Given the description of an element on the screen output the (x, y) to click on. 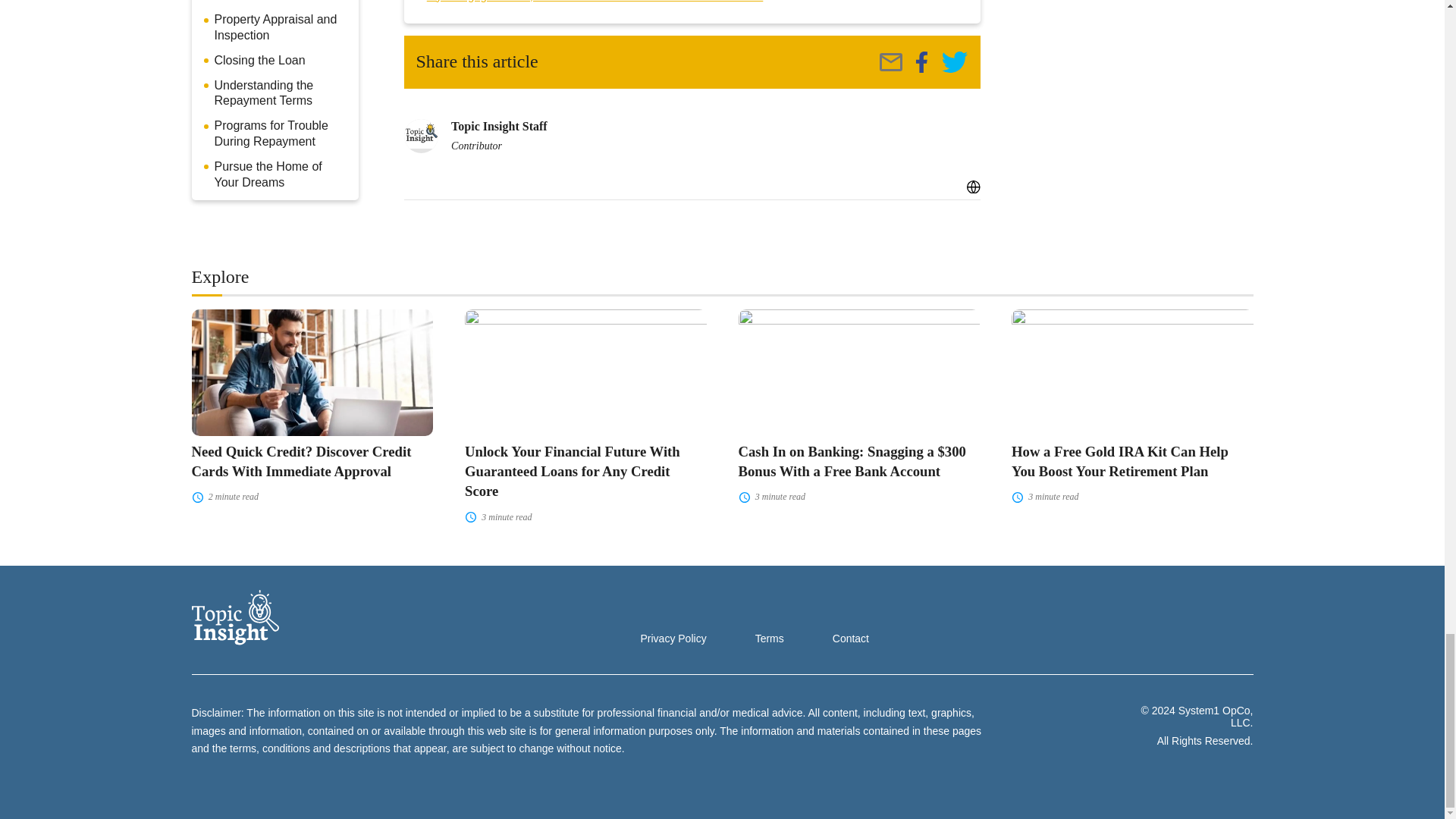
Share by Email (890, 62)
